Given the description of an element on the screen output the (x, y) to click on. 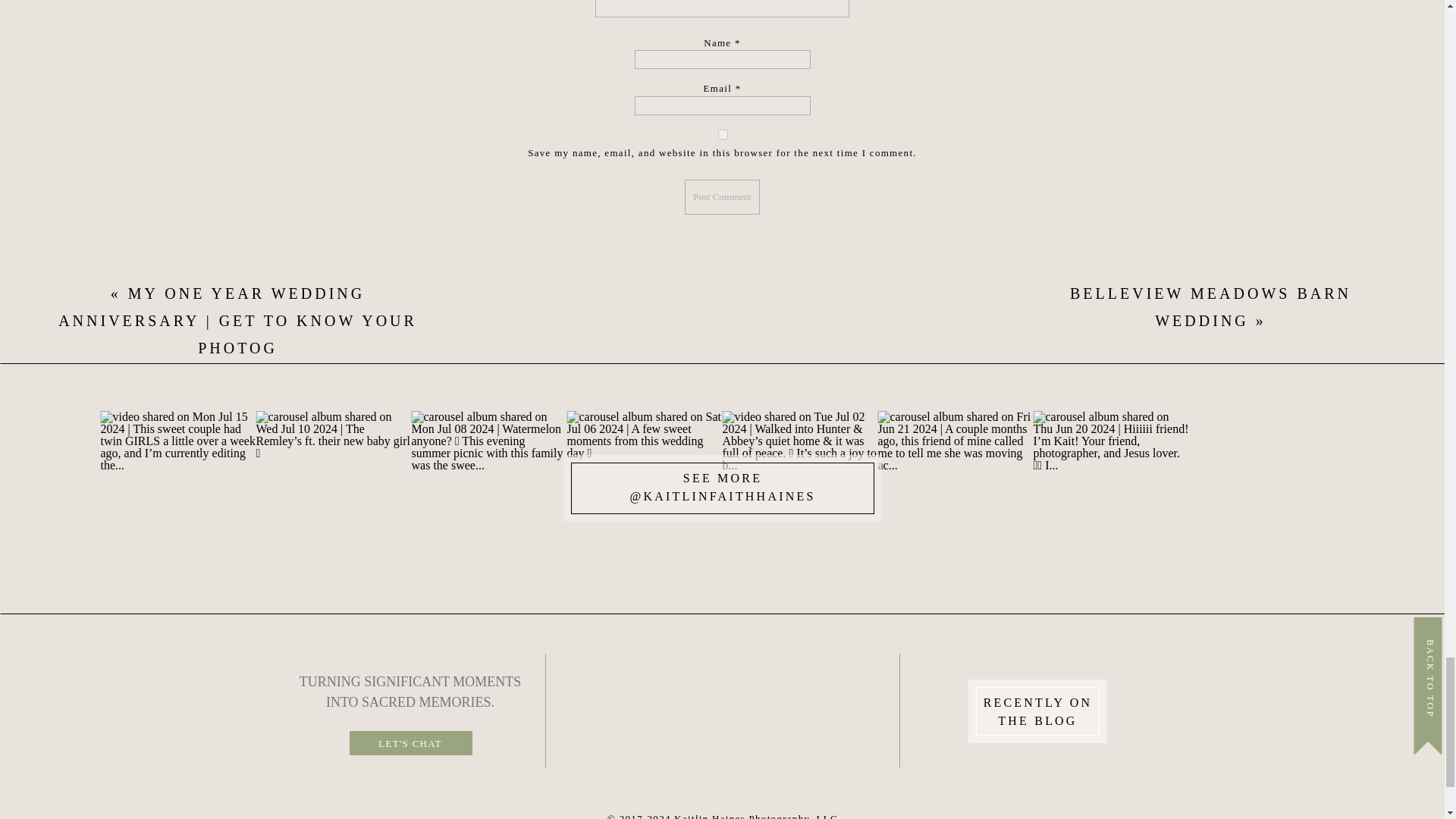
yes (721, 134)
Post Comment (722, 196)
